Given the description of an element on the screen output the (x, y) to click on. 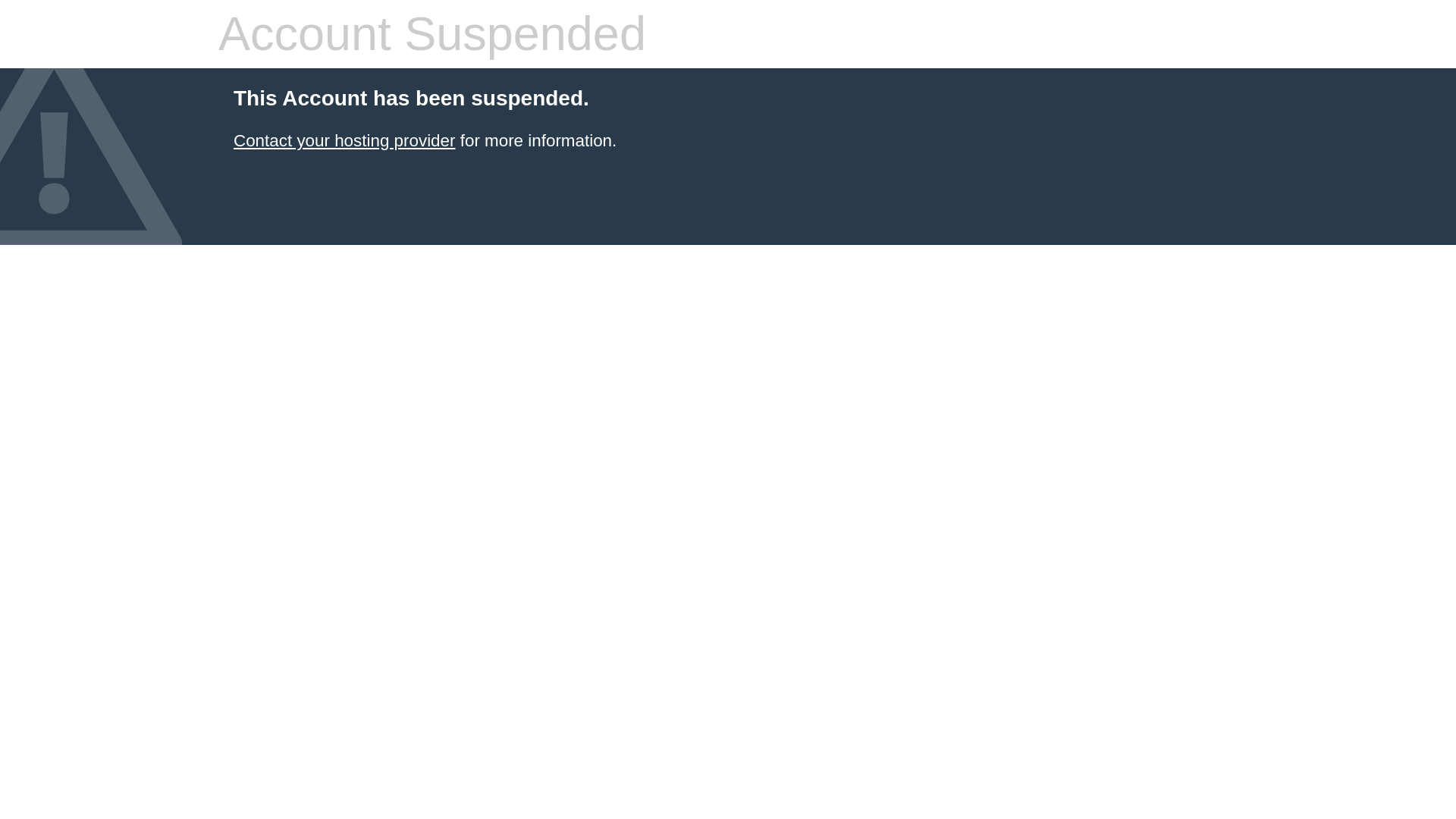
Contact your hosting provider (343, 140)
